Given the description of an element on the screen output the (x, y) to click on. 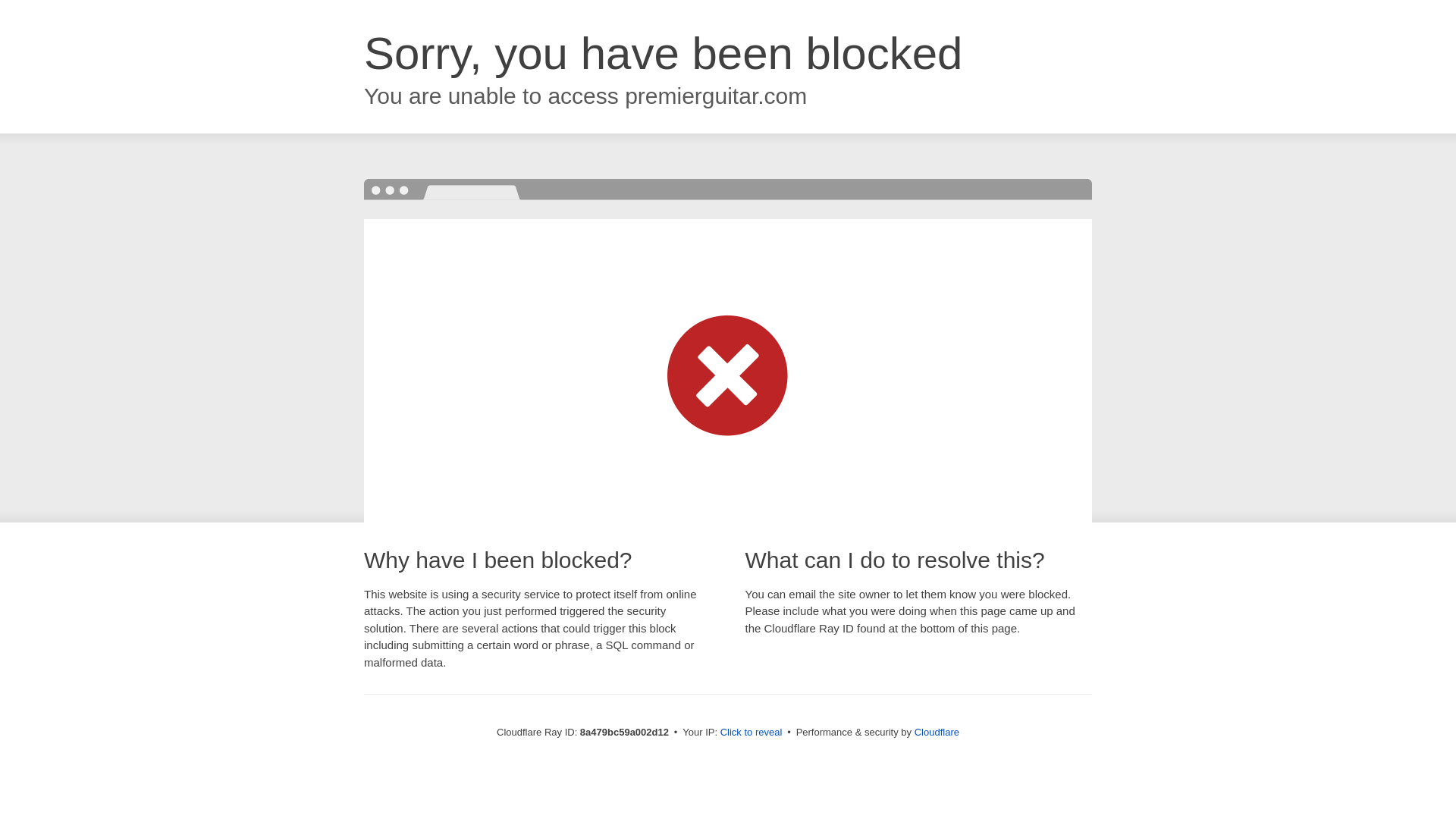
Cloudflare (936, 731)
Click to reveal (751, 732)
